Given the description of an element on the screen output the (x, y) to click on. 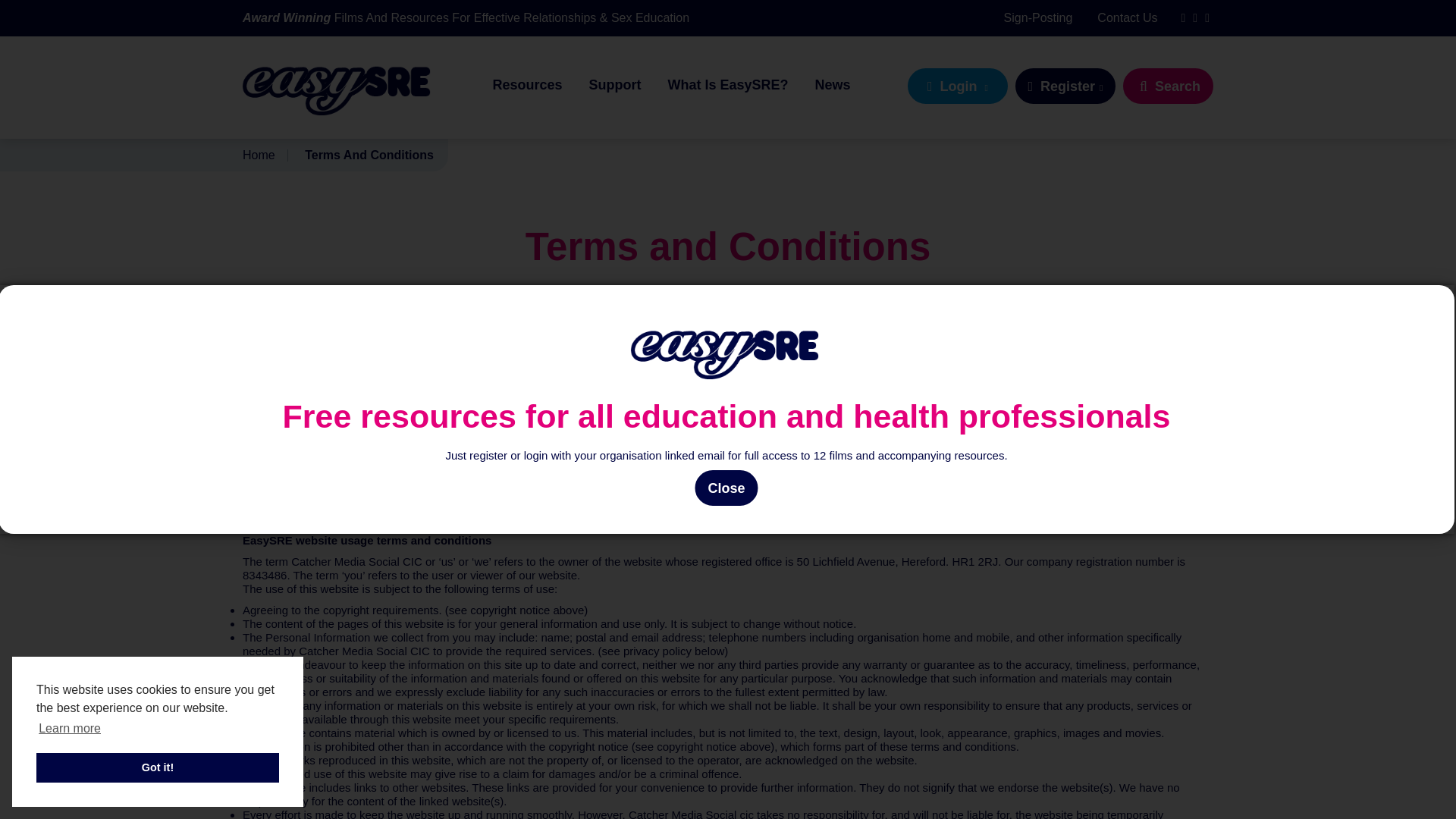
Back (160, 33)
Home (259, 154)
Register (1064, 85)
What Is EasySRE? (726, 84)
Login (957, 85)
Contact Us (1127, 17)
Got it! (157, 767)
Support (614, 84)
Learn more (69, 728)
Search (1167, 85)
News (831, 84)
Resources (527, 84)
Sign-Posting (1038, 17)
